Given the description of an element on the screen output the (x, y) to click on. 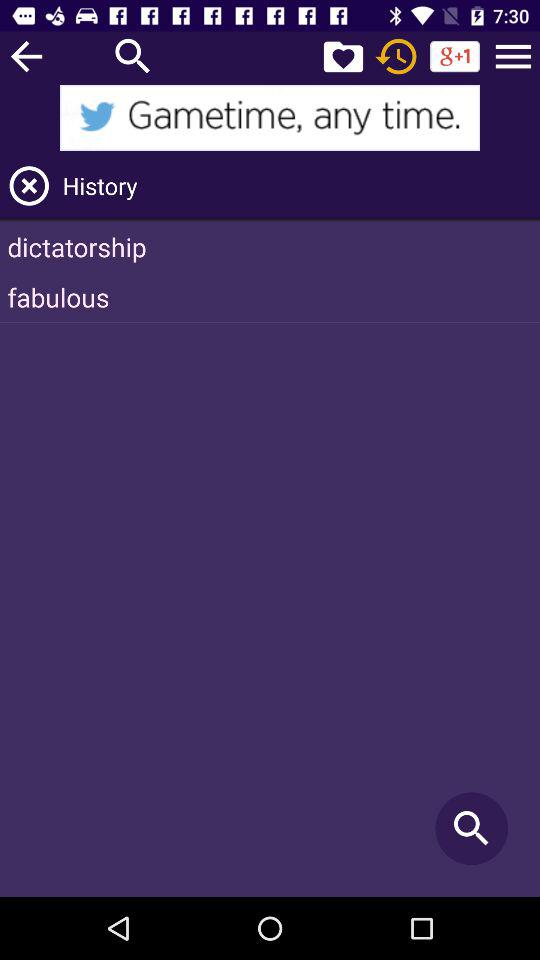
turn off icon above history (270, 117)
